Given the description of an element on the screen output the (x, y) to click on. 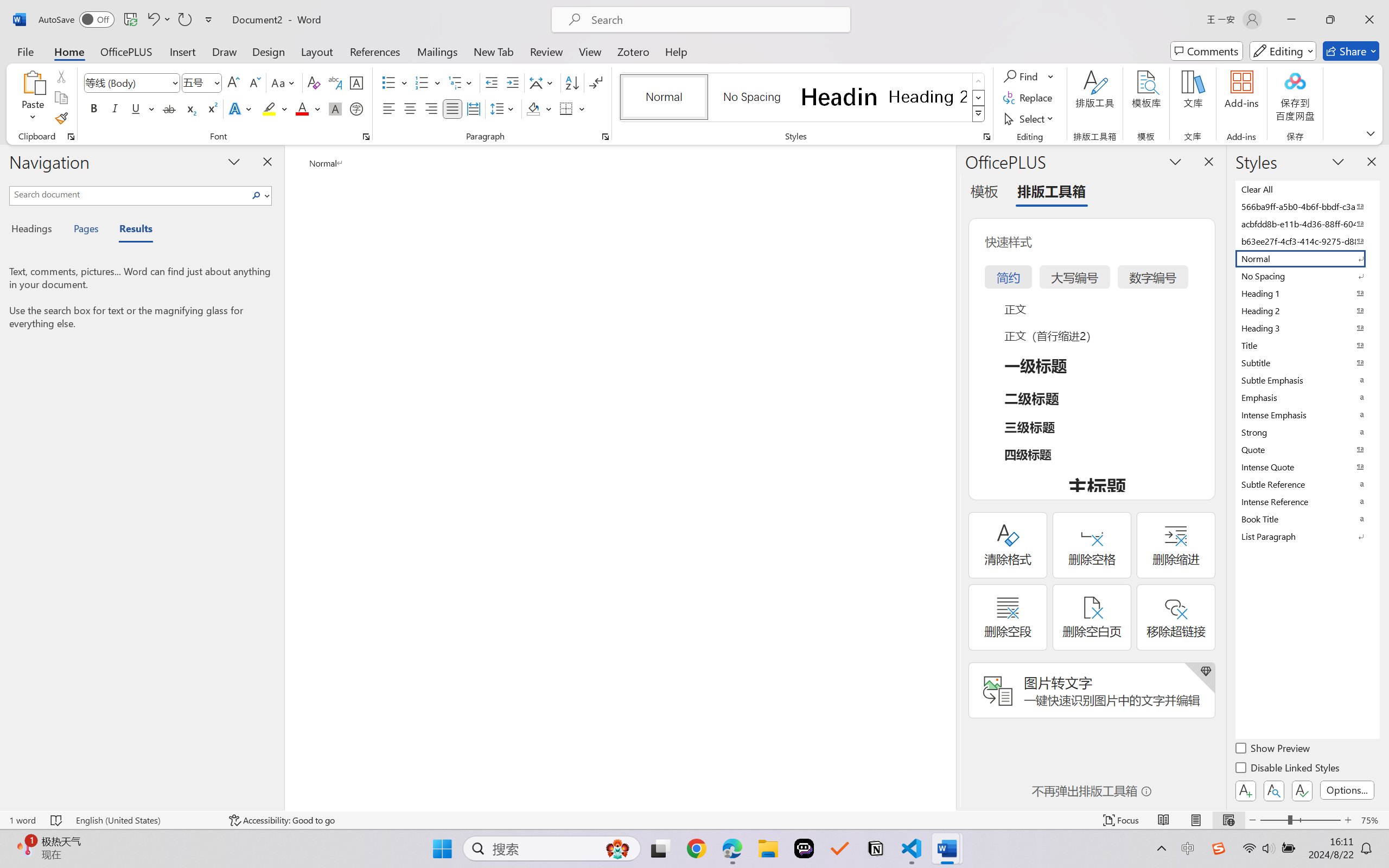
Change Case (284, 82)
Decrease Indent (491, 82)
Strikethrough (169, 108)
Character Shading (334, 108)
Draw (224, 51)
Zotero (632, 51)
List Paragraph (1306, 536)
References (375, 51)
Zoom (1300, 819)
Help (675, 51)
